Given the description of an element on the screen output the (x, y) to click on. 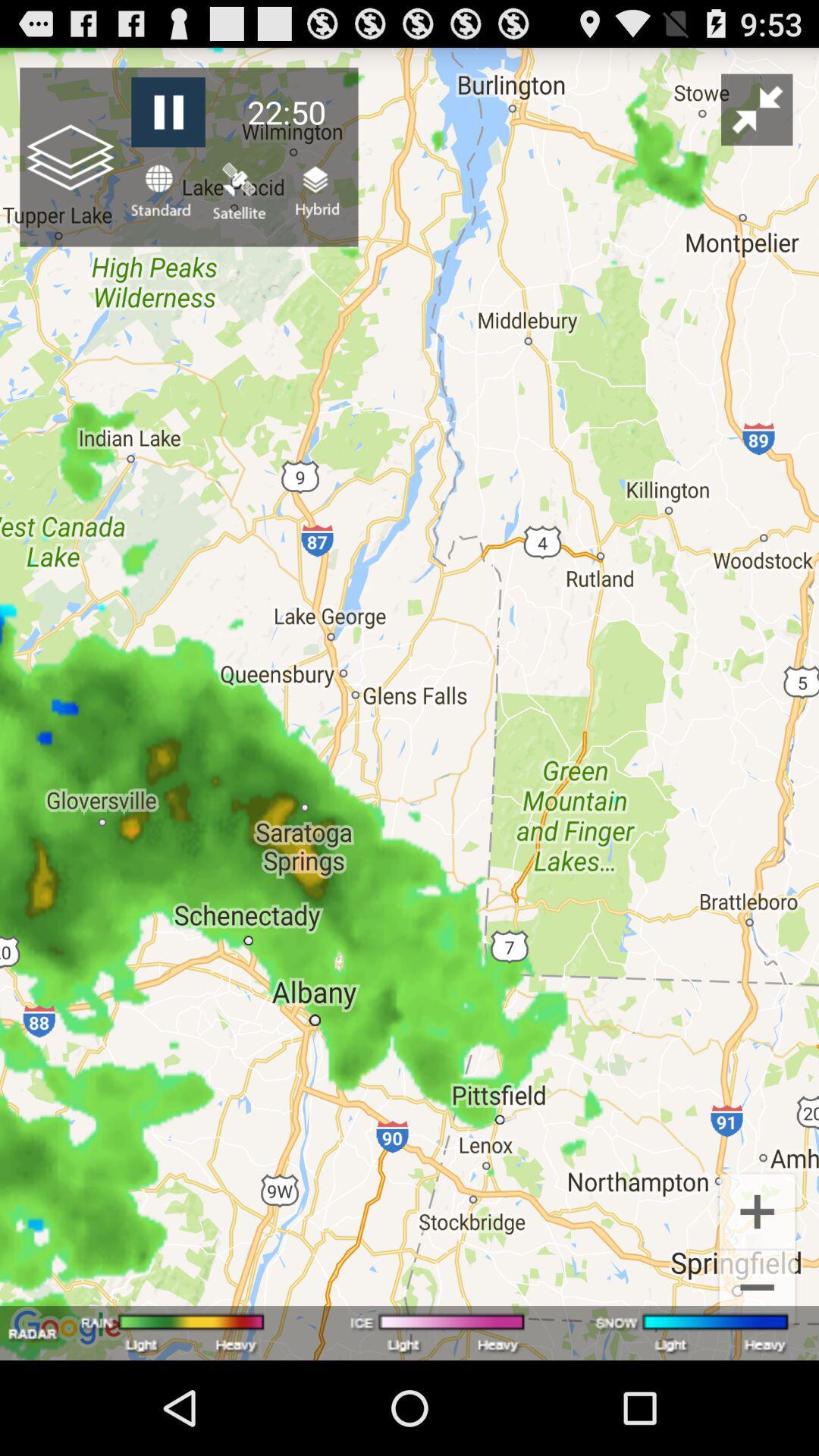
launch item below the 22:50 item (315, 190)
